Given the description of an element on the screen output the (x, y) to click on. 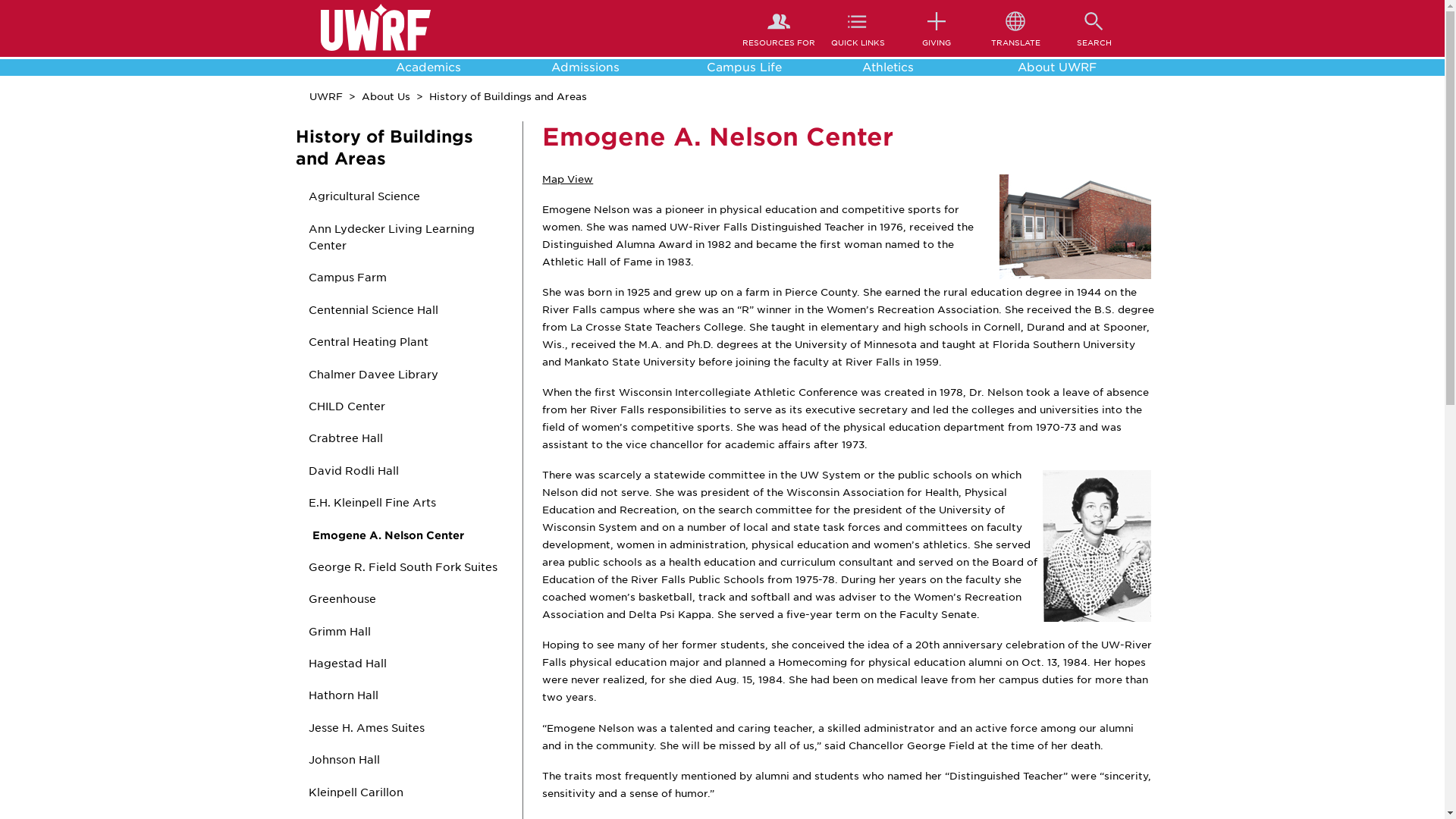
GIVING (936, 26)
Academics (453, 67)
TRANSLATE (1015, 26)
Nelson Hall (1074, 226)
Admissions (609, 67)
SEARCH (1094, 26)
RESOURCES FOR (778, 26)
QUICK LINKS (858, 26)
